Given the description of an element on the screen output the (x, y) to click on. 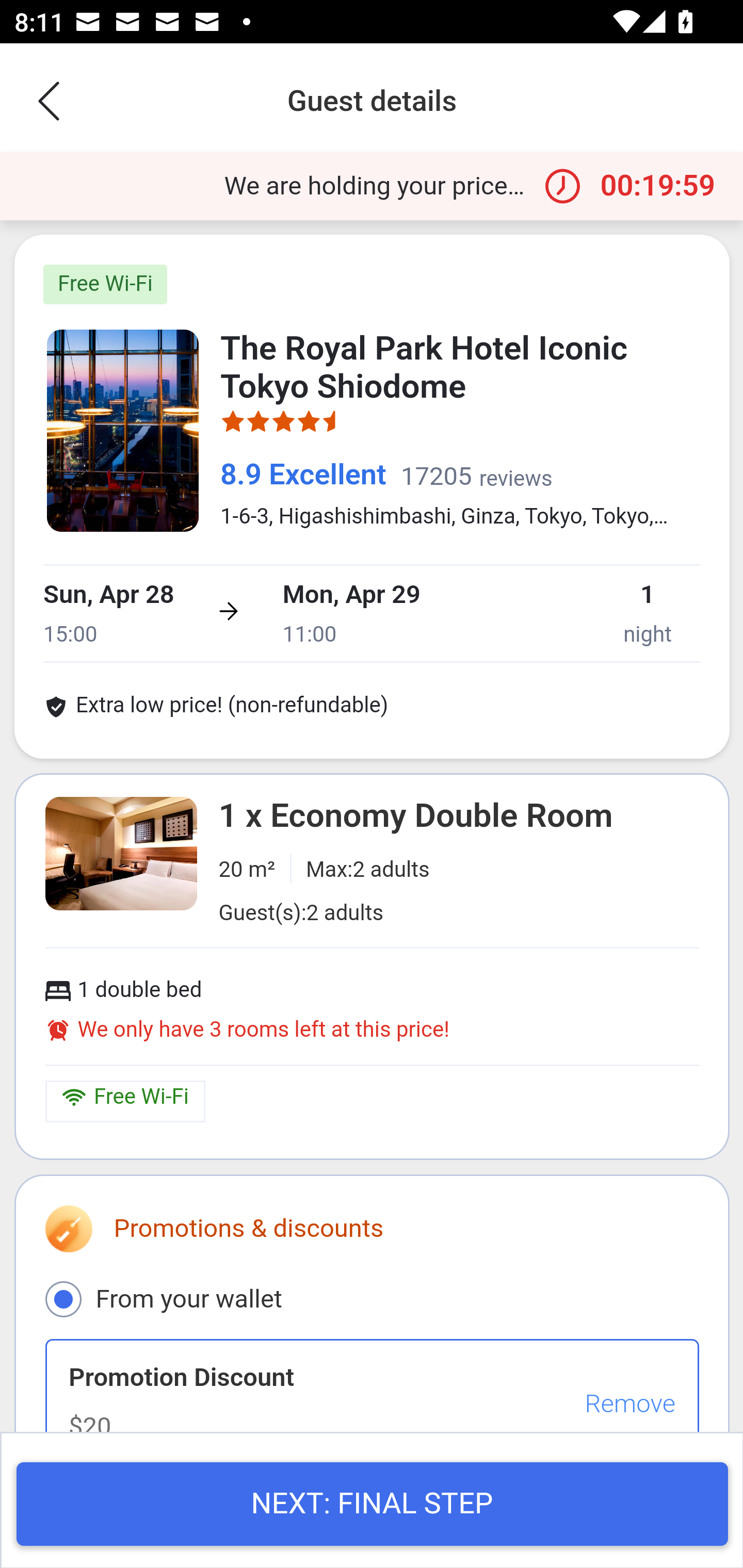
Free Wi-Fi (105, 283)
Hotel (122, 430)
4.5 stars out of 5 (284, 425)
Extra low price! (non-refundable) (216, 709)
From your wallet (371, 1298)
From your wallet (63, 1298)
Remove (629, 1403)
NEXT: FINAL STEP (371, 1504)
